Given the description of an element on the screen output the (x, y) to click on. 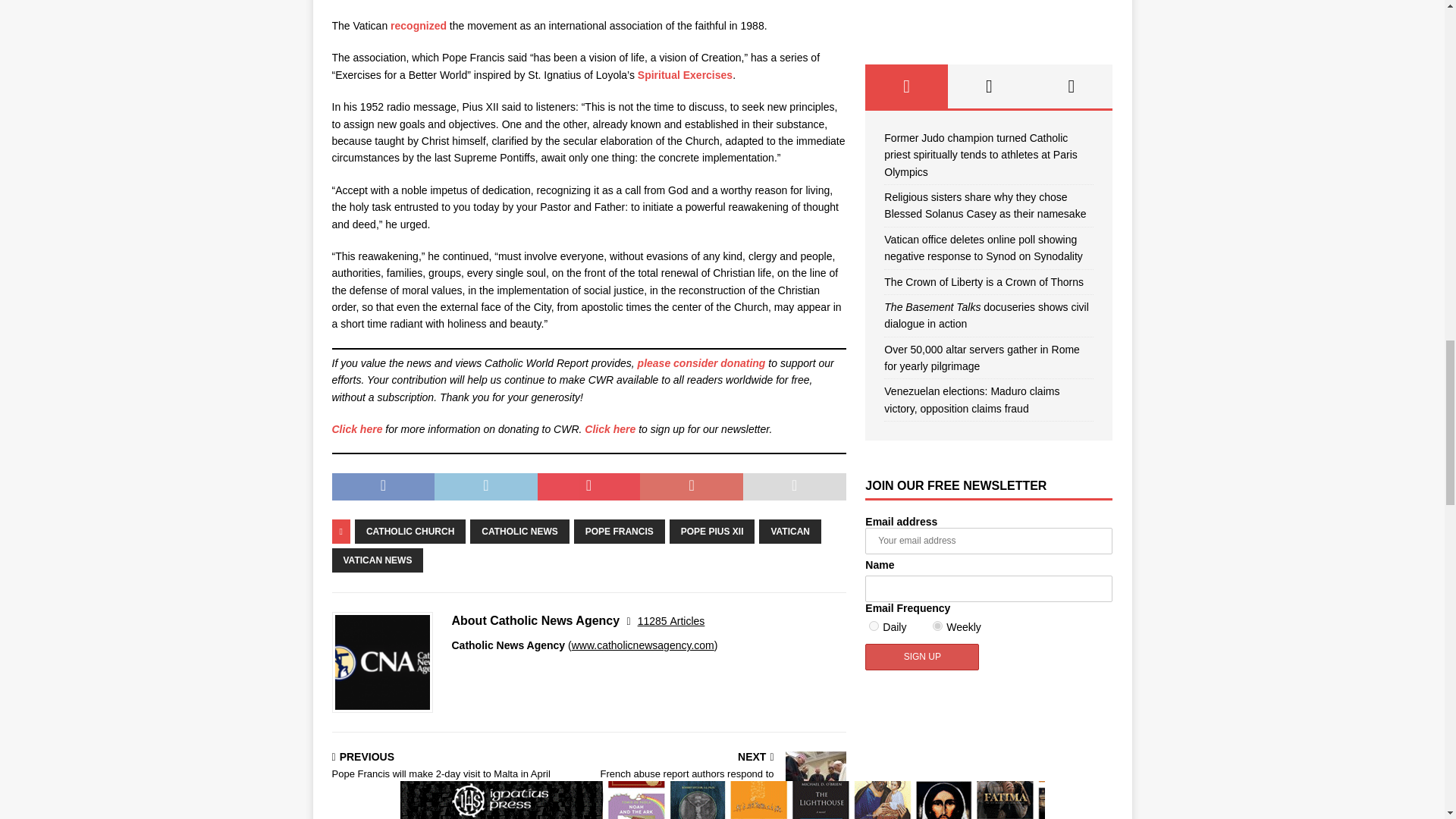
63bd12237f (874, 625)
bef84f4b50 (937, 625)
Sign up (921, 656)
